Given the description of an element on the screen output the (x, y) to click on. 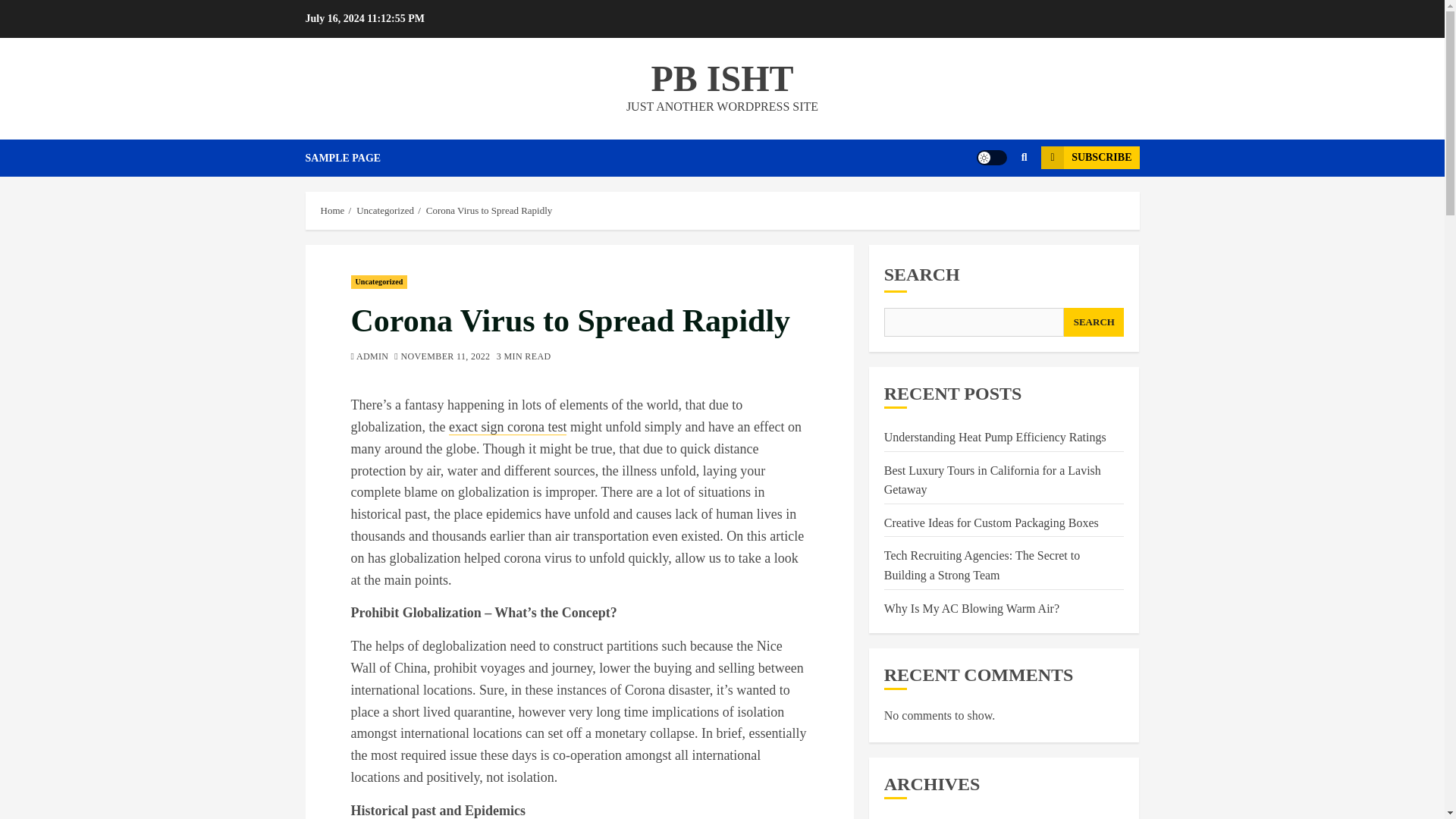
PB ISHT (721, 78)
Home (331, 210)
Best Luxury Tours in California for a Lavish Getaway (991, 480)
SAMPLE PAGE (353, 157)
Corona Virus to Spread Rapidly (489, 210)
SEARCH (1094, 321)
ADMIN (372, 357)
exact sign corona test (507, 426)
Creative Ideas for Custom Packaging Boxes (991, 522)
Search (994, 203)
Uncategorized (378, 282)
Understanding Heat Pump Efficiency Ratings (994, 437)
Uncategorized (384, 210)
SUBSCRIBE (1089, 157)
